Given the description of an element on the screen output the (x, y) to click on. 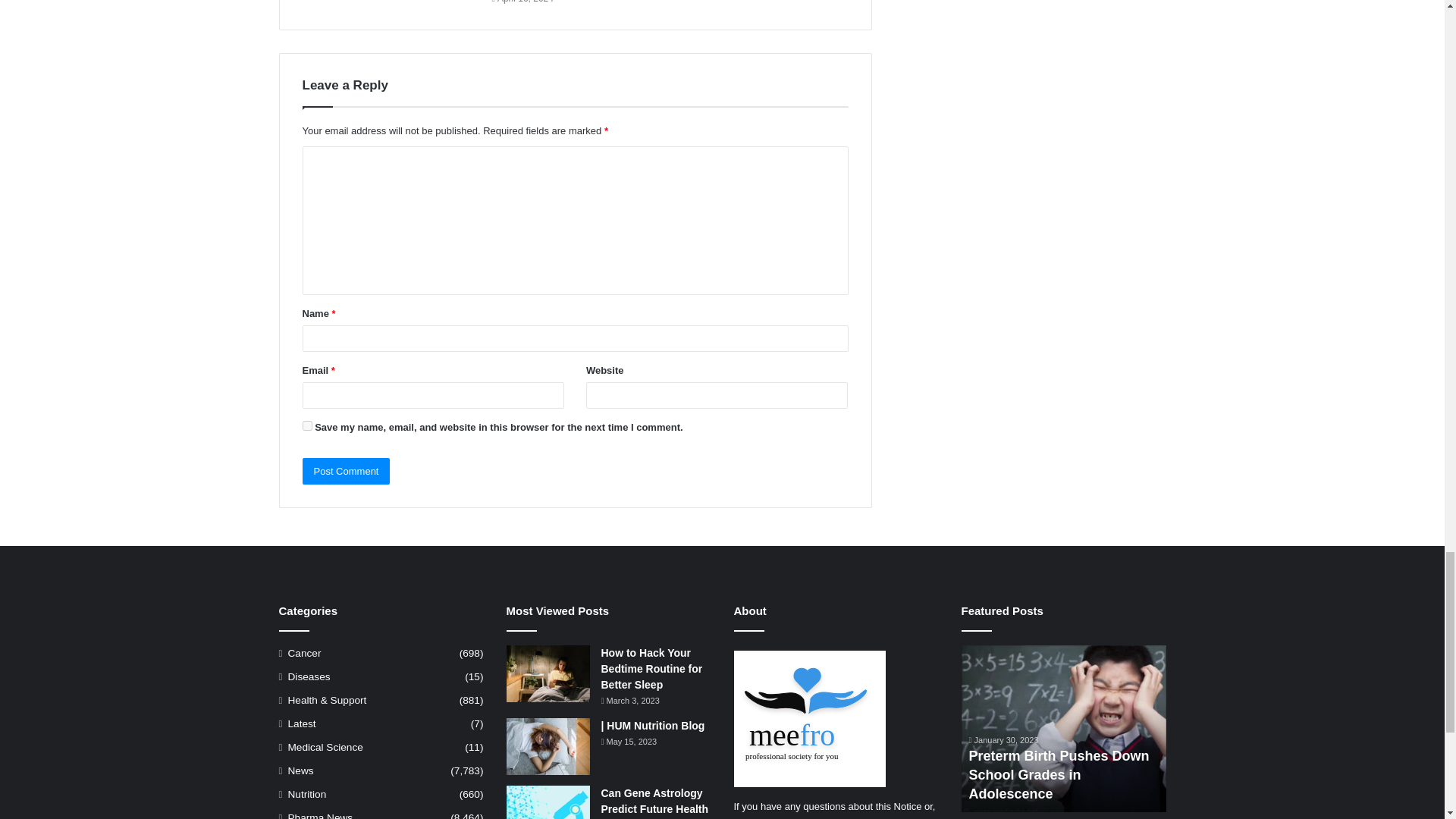
Post Comment (345, 470)
yes (306, 425)
